Given the description of an element on the screen output the (x, y) to click on. 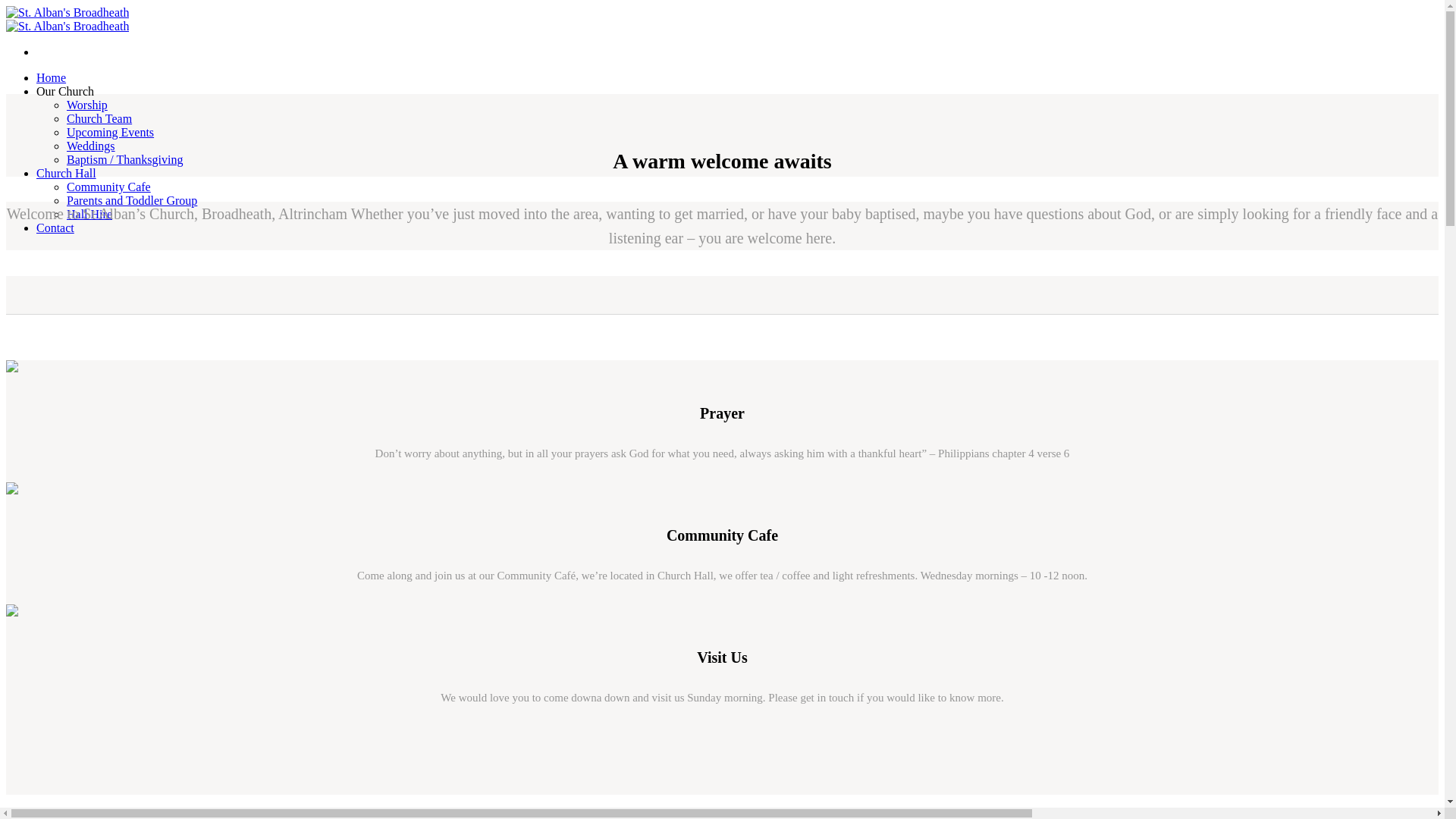
Church Team (99, 118)
Weddings (90, 145)
Community Cafe (108, 186)
Our Church (65, 91)
St. Alban's Broadheath (67, 18)
Parents and Toddler Group (131, 200)
Upcoming Events (110, 132)
Home (50, 77)
Hall Hire (89, 214)
Worship (86, 104)
Contact (55, 227)
Church Hall (66, 173)
